Given the description of an element on the screen output the (x, y) to click on. 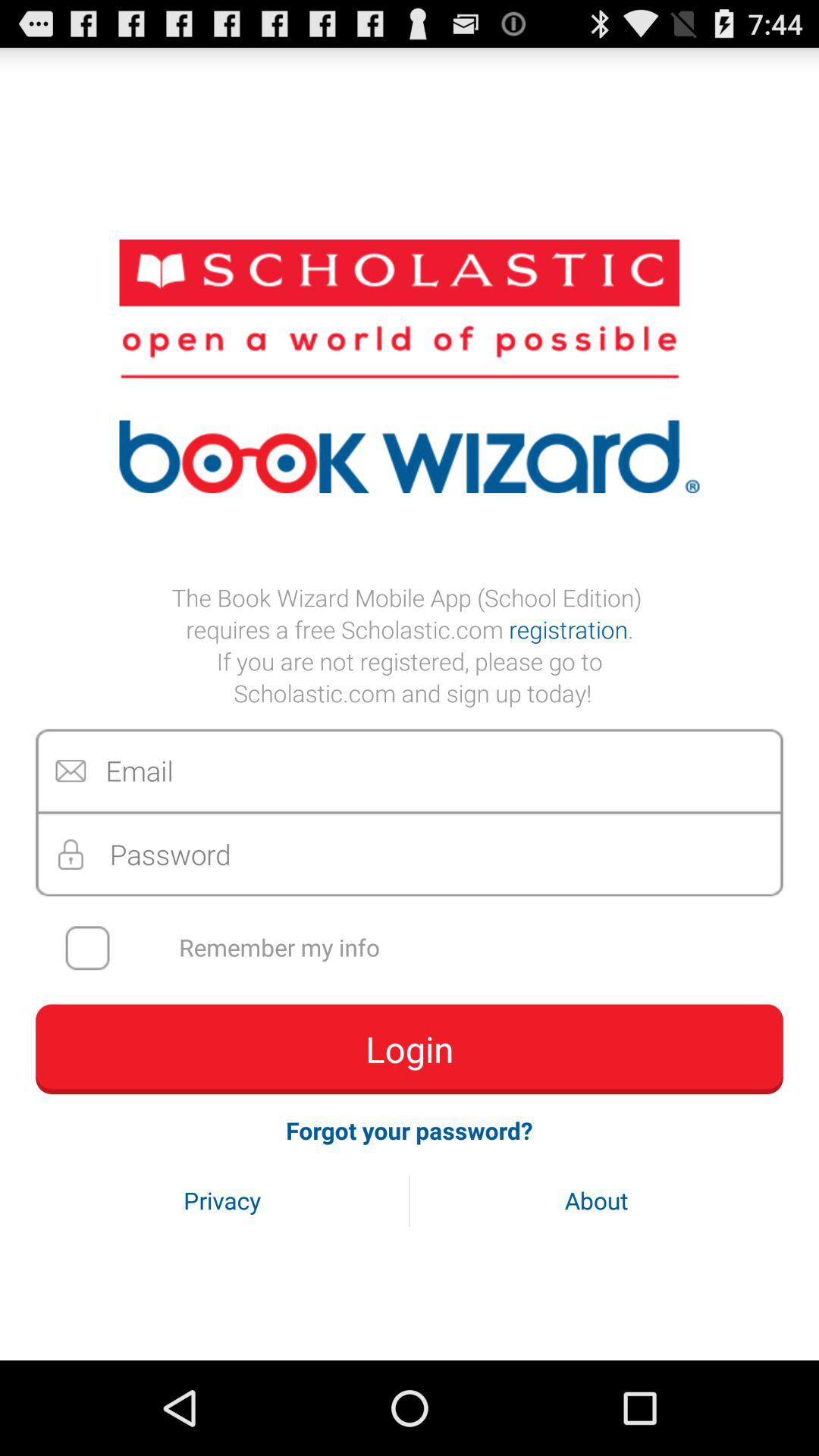
tap item to the right of the privacy (596, 1200)
